Given the description of an element on the screen output the (x, y) to click on. 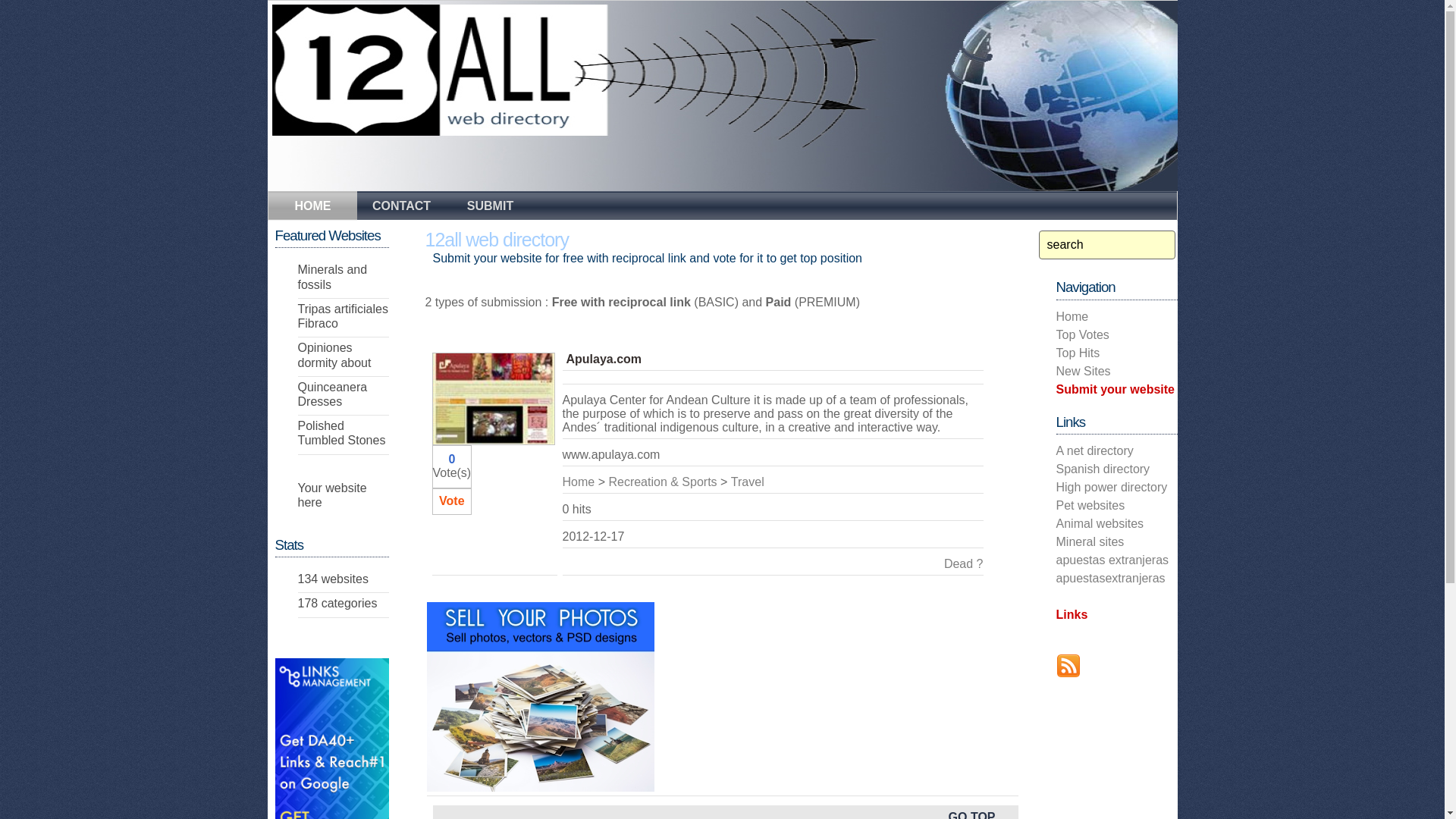
New Sites Element type: text (1082, 370)
Apulaya.com Element type: text (603, 358)
Animal websites Element type: text (1099, 523)
Tripas artificiales Fibraco Element type: text (342, 315)
A net directory Element type: text (1093, 450)
Spanish directory Element type: text (1102, 468)
Pet websites Element type: text (1089, 504)
0 Element type: text (451, 458)
134 websites Element type: text (332, 578)
Dead ? Element type: text (963, 563)
Recreation & Sports Element type: text (662, 481)
Vote Element type: text (451, 500)
Polished Tumbled Stones Element type: text (341, 432)
Minerals and fossils Element type: text (332, 276)
178 categories Element type: text (336, 602)
SUBMIT Element type: text (489, 204)
High power directory Element type: text (1111, 486)
Submit your website Element type: text (1114, 388)
Home Element type: text (578, 481)
Links Element type: text (1071, 614)
Top Hits Element type: text (1077, 352)
CONTACT Element type: text (400, 204)
Mineral sites Element type: text (1089, 541)
apuestasextranjeras Element type: text (1109, 577)
Quinceanera Dresses Element type: text (332, 393)
Home Element type: text (1071, 316)
Sell your photos Element type: hover (539, 696)
HOME Element type: text (312, 207)
Your website here Element type: text (331, 494)
Travel Element type: text (747, 481)
Opiniones dormity about Element type: text (333, 354)
apuestas extranjeras Element type: text (1111, 559)
Top Votes Element type: text (1081, 334)
